Given the description of an element on the screen output the (x, y) to click on. 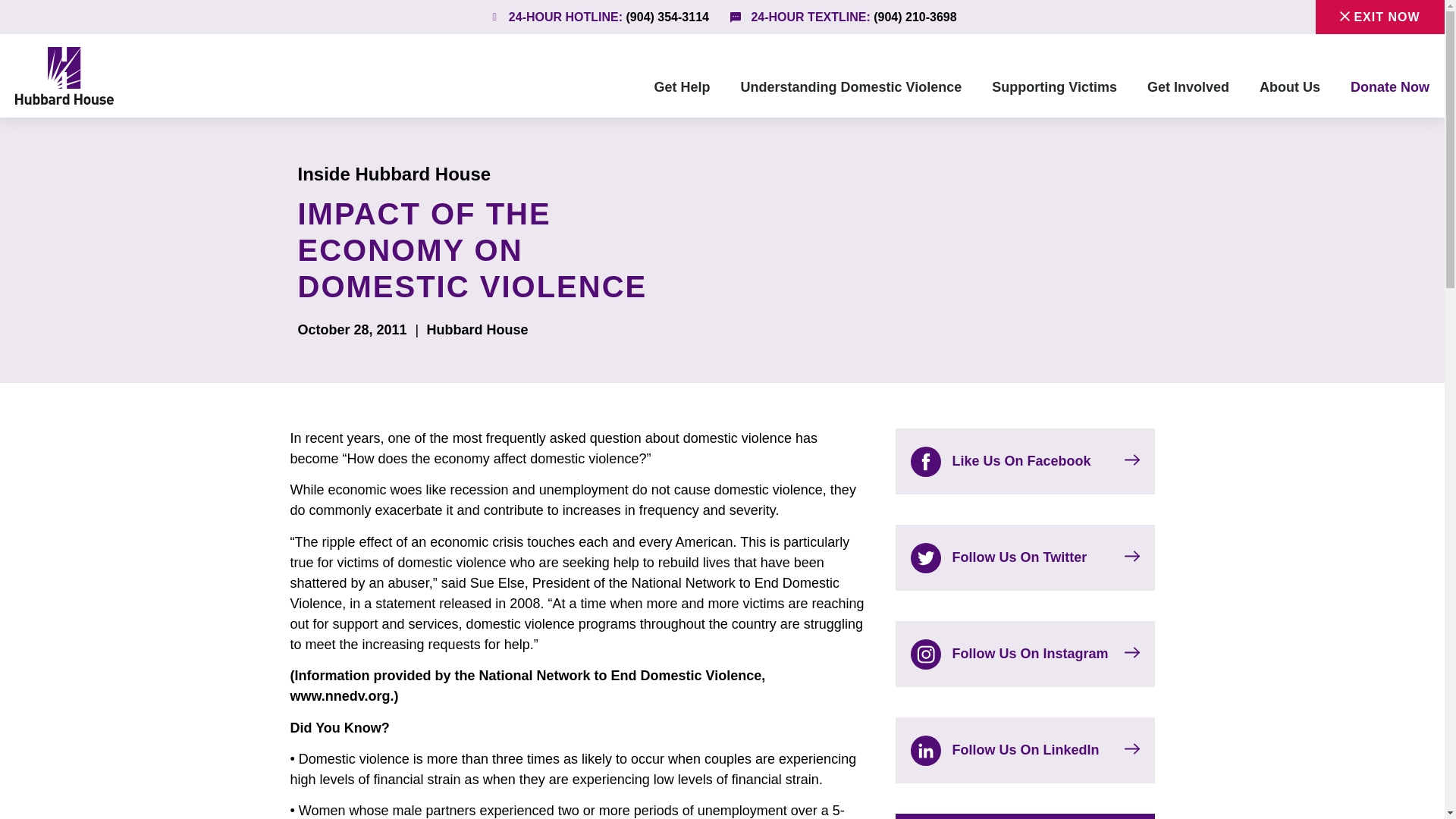
Understanding Domestic Violence (850, 86)
Supporting Victims (1054, 86)
Get Involved (1188, 86)
Get Help (682, 86)
